Given the description of an element on the screen output the (x, y) to click on. 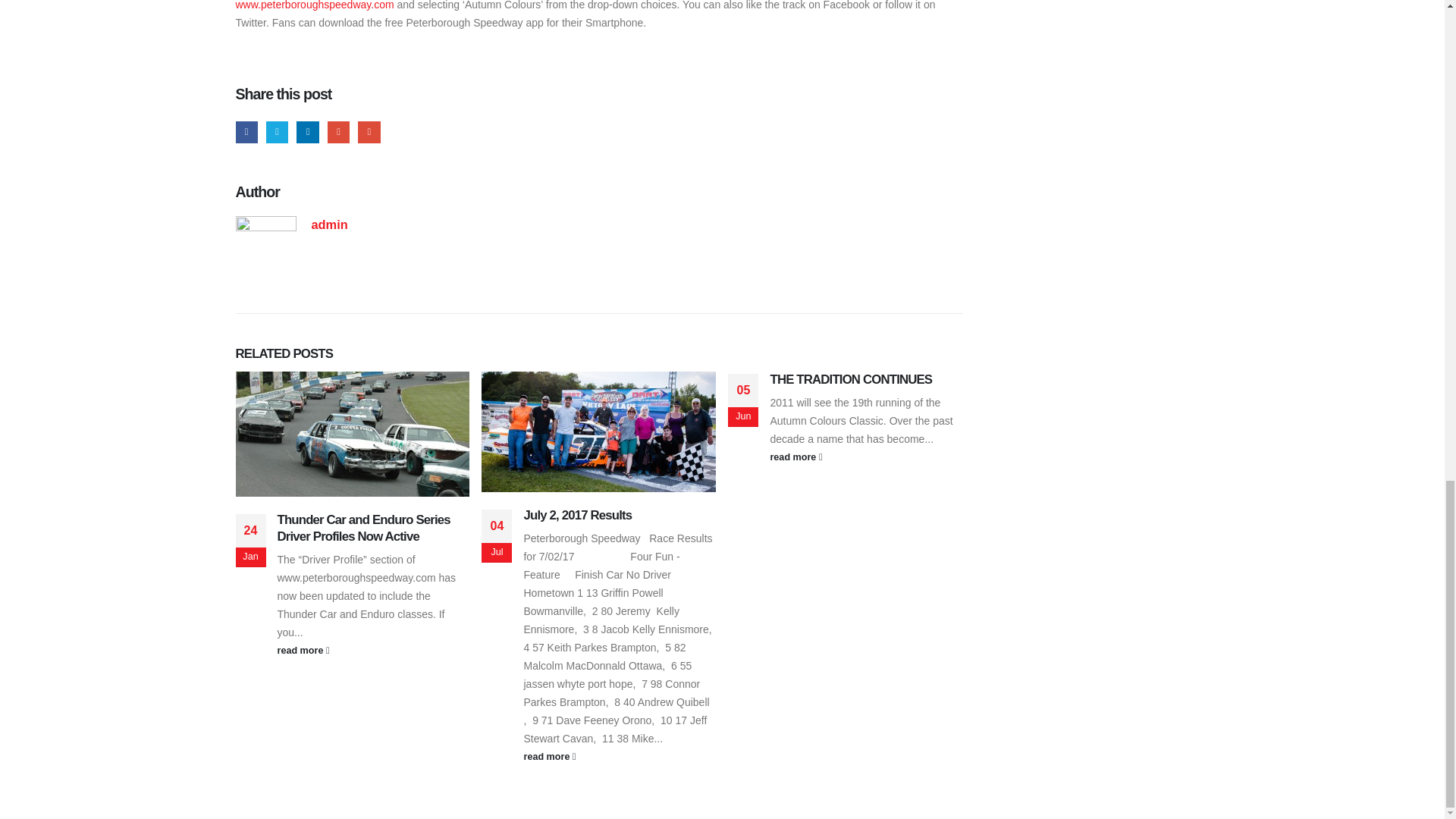
Facebook (245, 132)
Twitter (277, 132)
Email (369, 132)
Posts by admin (329, 223)
LinkedIn (307, 132)
